Given the description of an element on the screen output the (x, y) to click on. 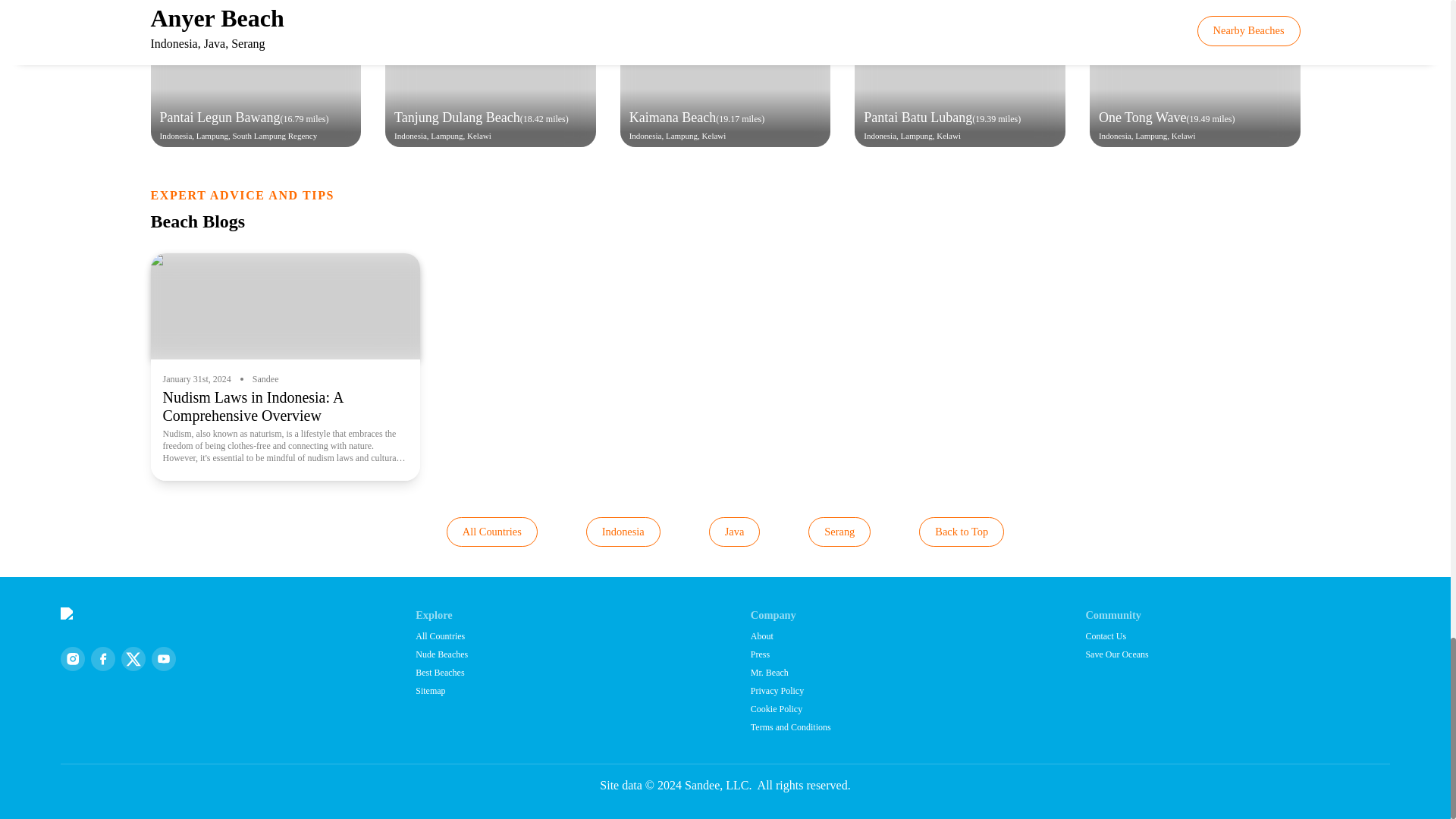
Java (734, 531)
Indonesia (623, 531)
All Countries (491, 531)
